Given the description of an element on the screen output the (x, y) to click on. 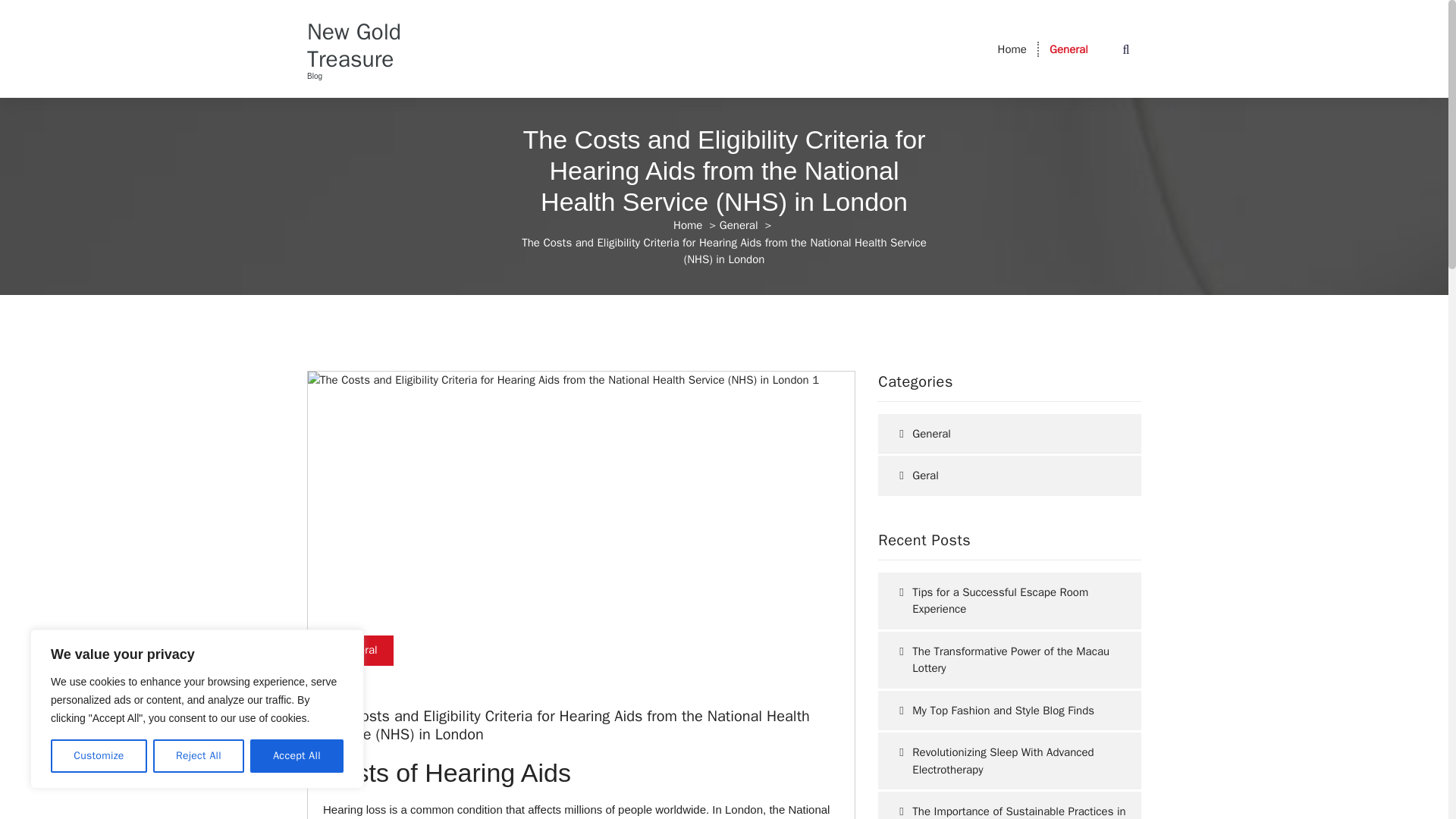
New Gold Treasure (366, 45)
Reject All (198, 756)
Home (1012, 49)
Home (686, 224)
Accept All (296, 756)
Home (1012, 49)
General (1068, 49)
General (1068, 49)
General (738, 224)
Customize (98, 756)
